Given the description of an element on the screen output the (x, y) to click on. 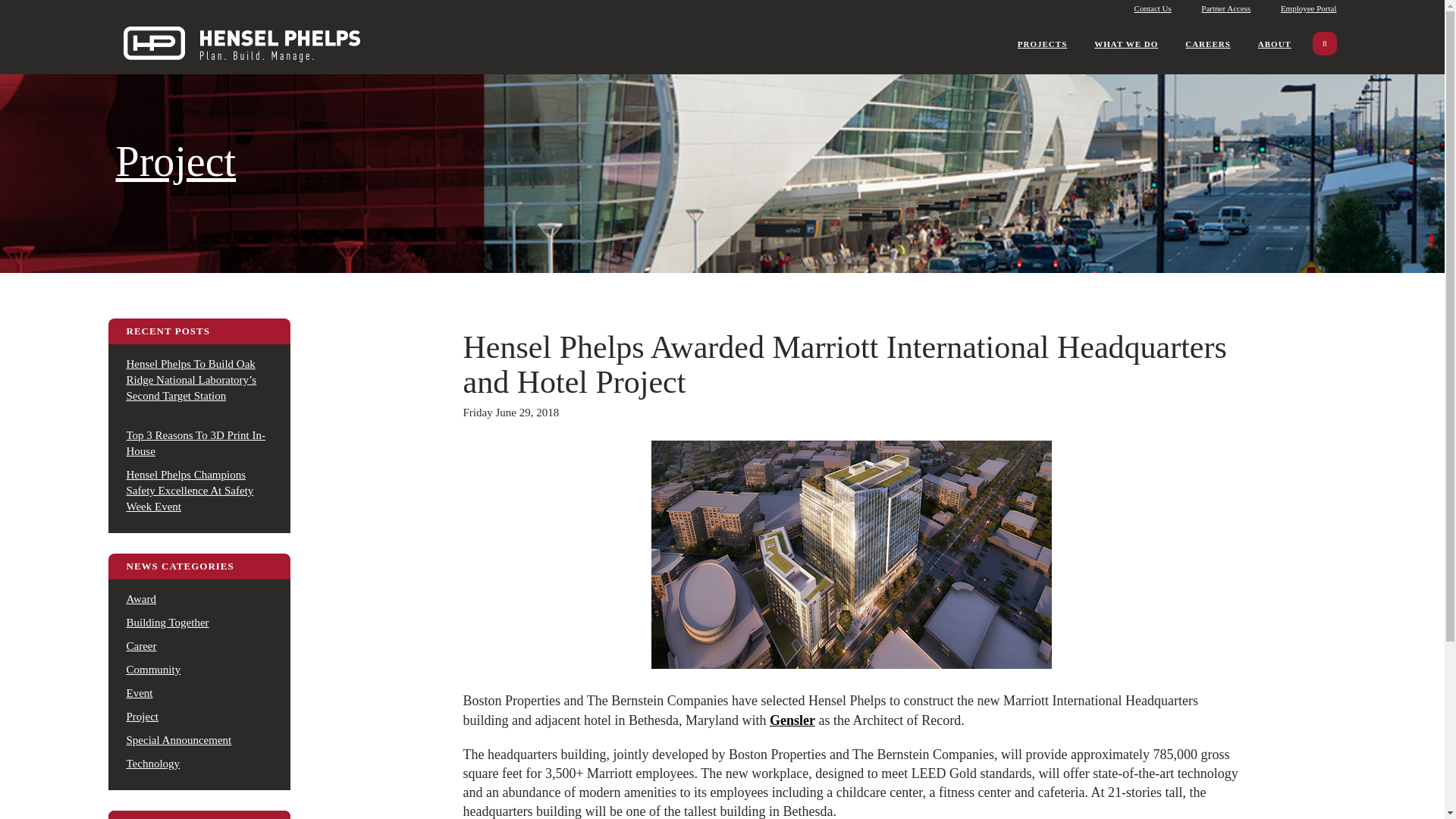
Contact Us (1153, 8)
